Given the description of an element on the screen output the (x, y) to click on. 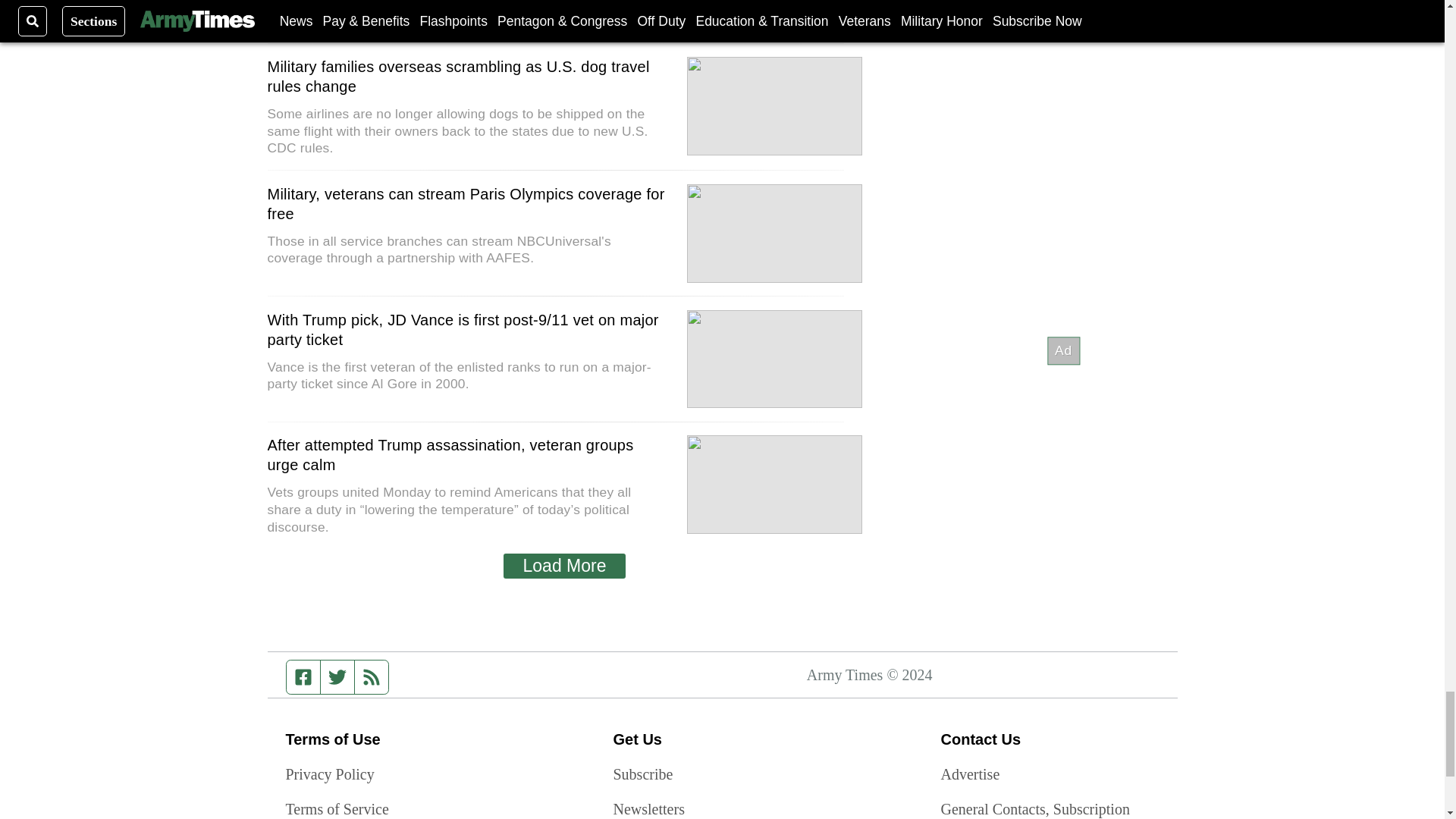
Twitter feed (336, 676)
Facebook page (303, 676)
RSS feed (371, 676)
